Given the description of an element on the screen output the (x, y) to click on. 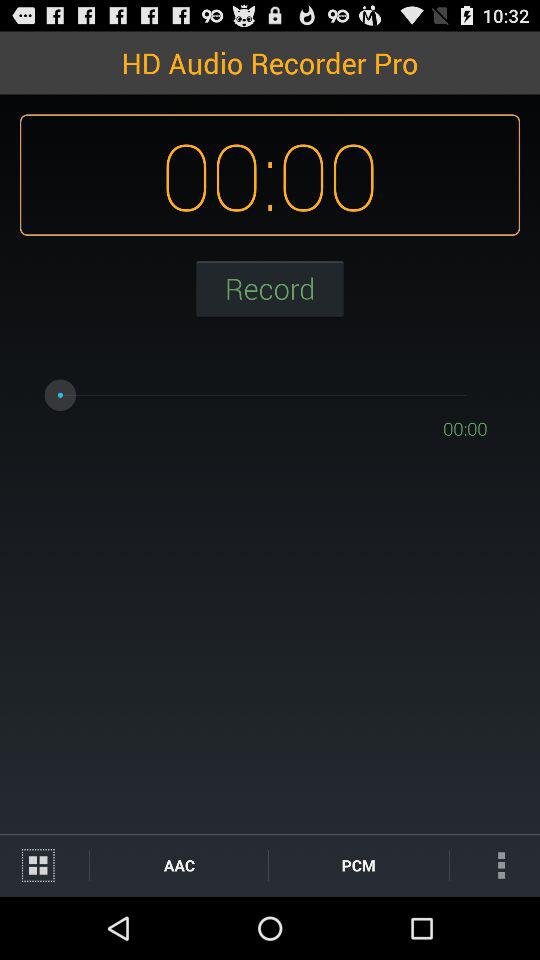
select record button (269, 288)
